Given the description of an element on the screen output the (x, y) to click on. 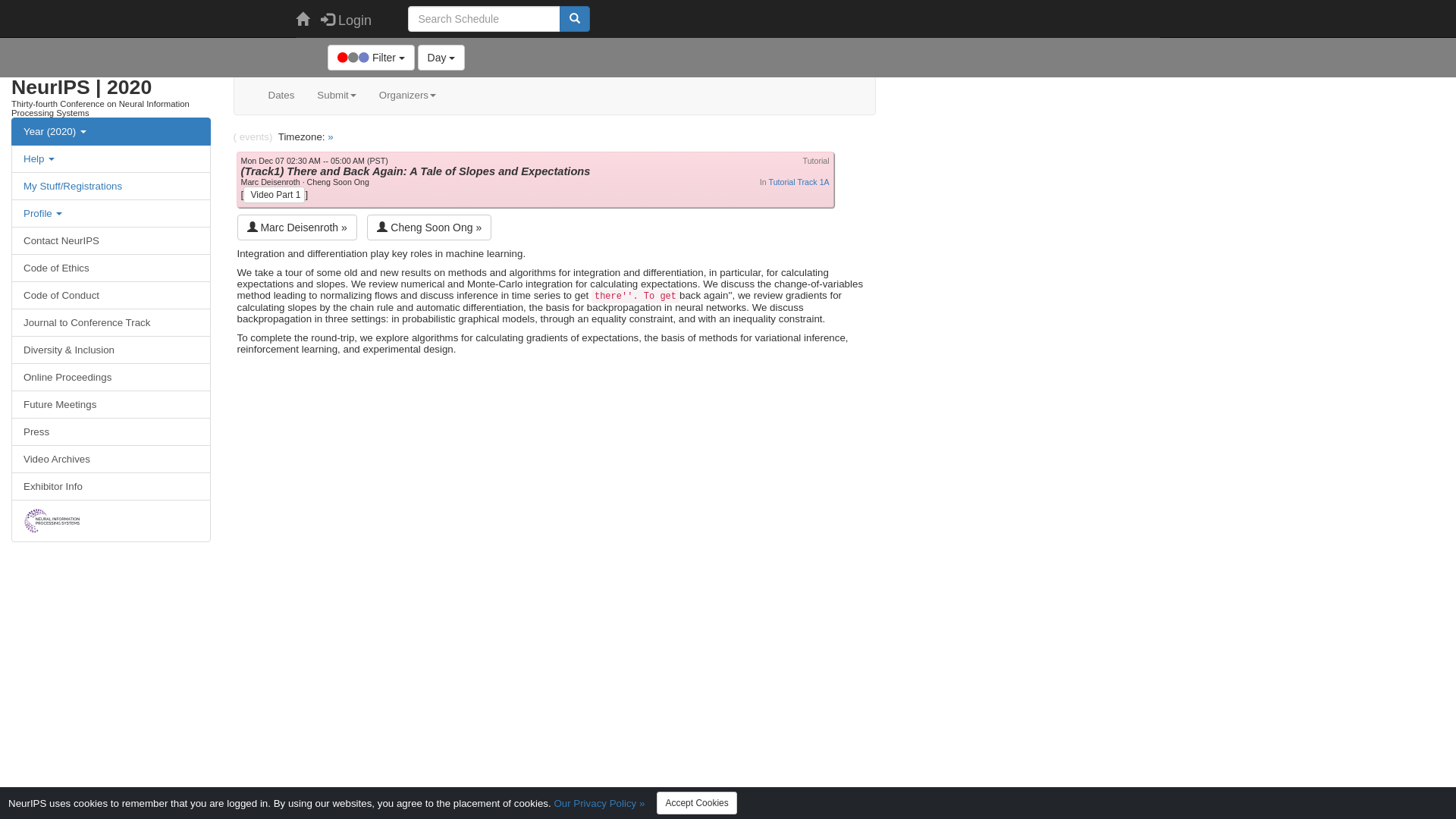
Diversity & Inclusion Element type: text (110, 349)
Future Meetings Element type: text (110, 404)
Submit Element type: text (336, 95)
Day Element type: text (441, 57)
My Stuff/Registrations Element type: text (72, 185)
Code of Conduct Element type: text (110, 295)
Journal to Conference Track Element type: text (110, 322)
Video Archives Element type: text (110, 459)
Login Element type: text (345, 18)
Online Proceedings Element type: text (110, 377)
Press Element type: text (110, 431)
Exhibitor Info Element type: text (110, 486)
Code of Ethics Element type: text (110, 268)
Organizers Element type: text (407, 95)
Video Part 1 Element type: text (273, 194)
Filter Element type: text (370, 57)
Tutorial Track 1A Element type: text (798, 181)
Contact NeurIPS Element type: text (110, 240)
Dates Element type: text (280, 95)
Accept Cookies Element type: text (696, 802)
